Given the description of an element on the screen output the (x, y) to click on. 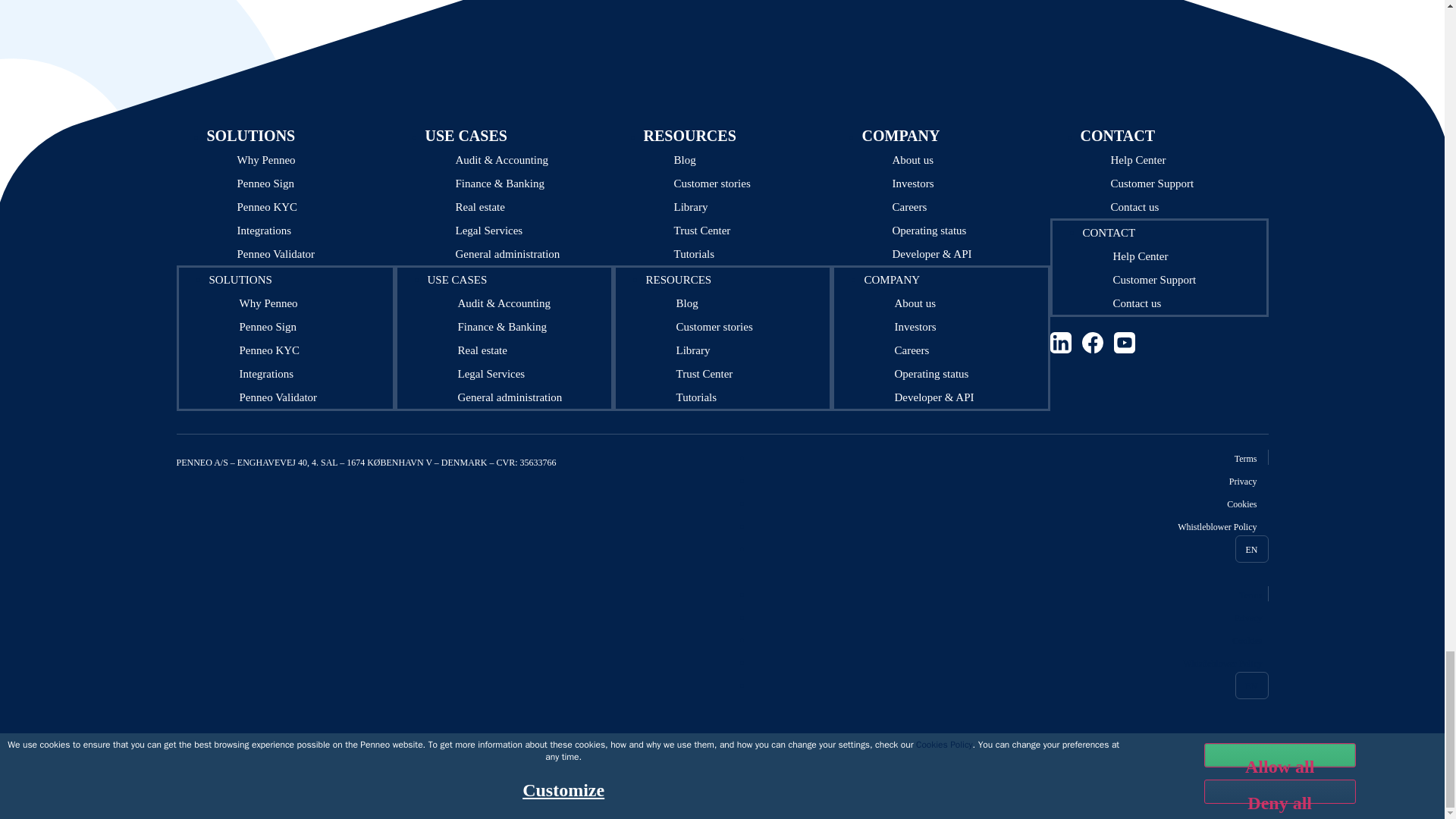
EN (1251, 548)
EN (1251, 685)
